Given the description of an element on the screen output the (x, y) to click on. 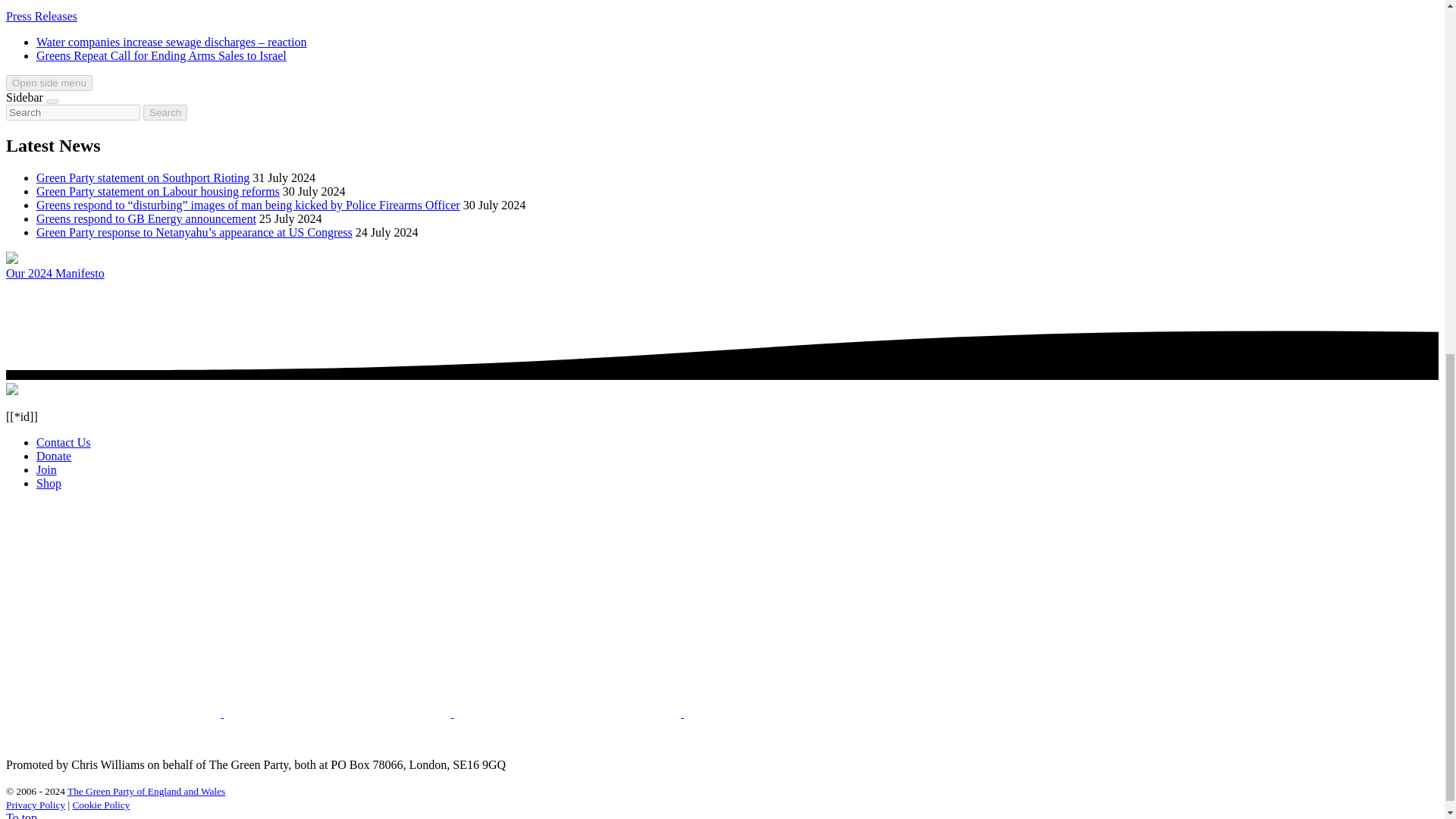
Contact Us (63, 441)
Search (164, 112)
Our 2024 Manifesto (54, 273)
Press Releases (41, 15)
Green Party statement on Labour housing reforms (157, 191)
Green Party statement on Southport Rioting (142, 177)
Open side menu (49, 82)
Join (46, 469)
Greens Repeat Call for Ending Arms Sales to Israel (161, 55)
Donate (53, 455)
Greens respond to GB Energy announcement (146, 218)
